Given the description of an element on the screen output the (x, y) to click on. 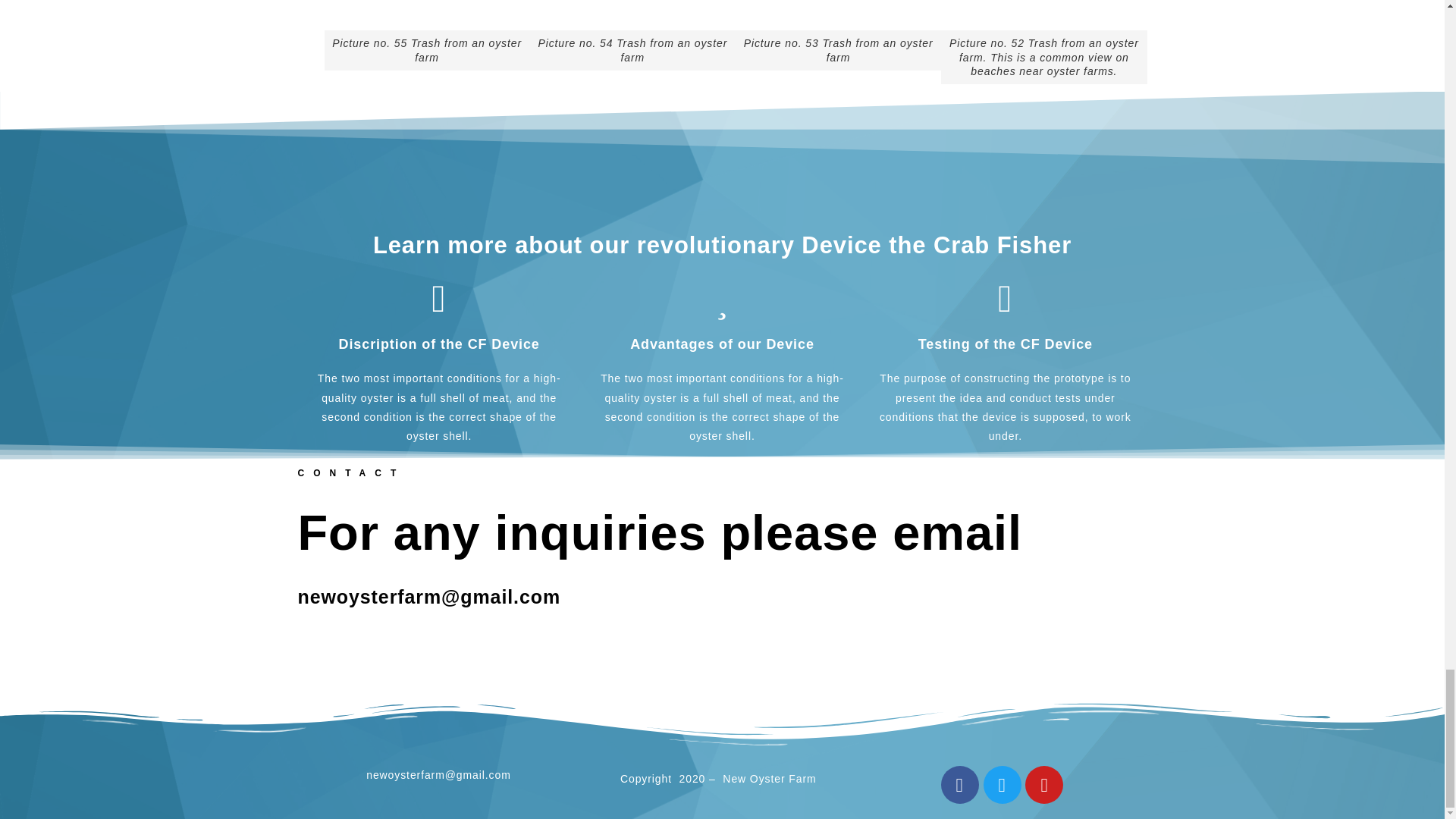
Discription of the CF Device (439, 344)
Advantages of our Device (721, 344)
Testing of the CF Device (1005, 344)
